Given the description of an element on the screen output the (x, y) to click on. 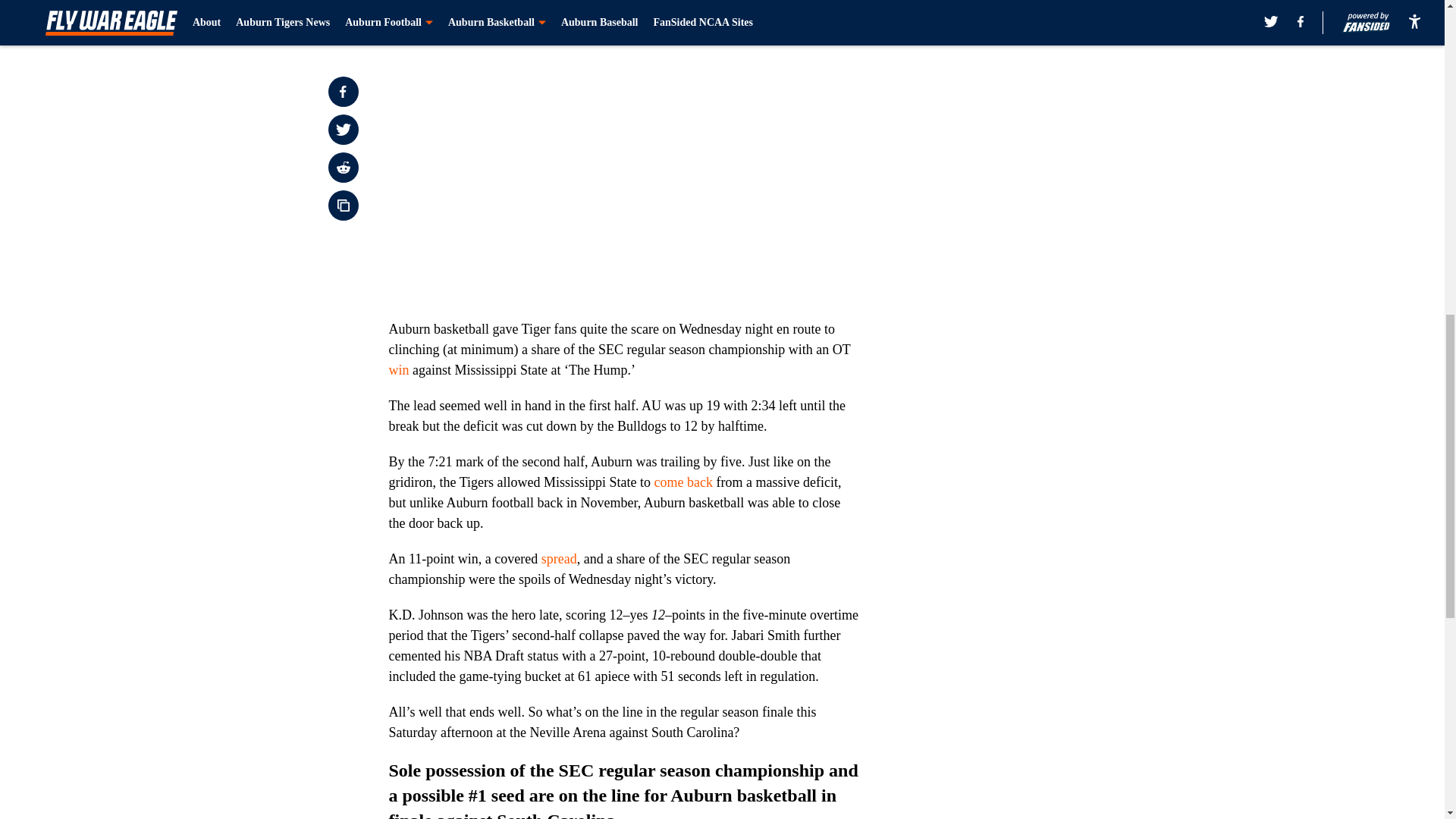
win (398, 369)
spread (558, 558)
come back (683, 482)
